Given the description of an element on the screen output the (x, y) to click on. 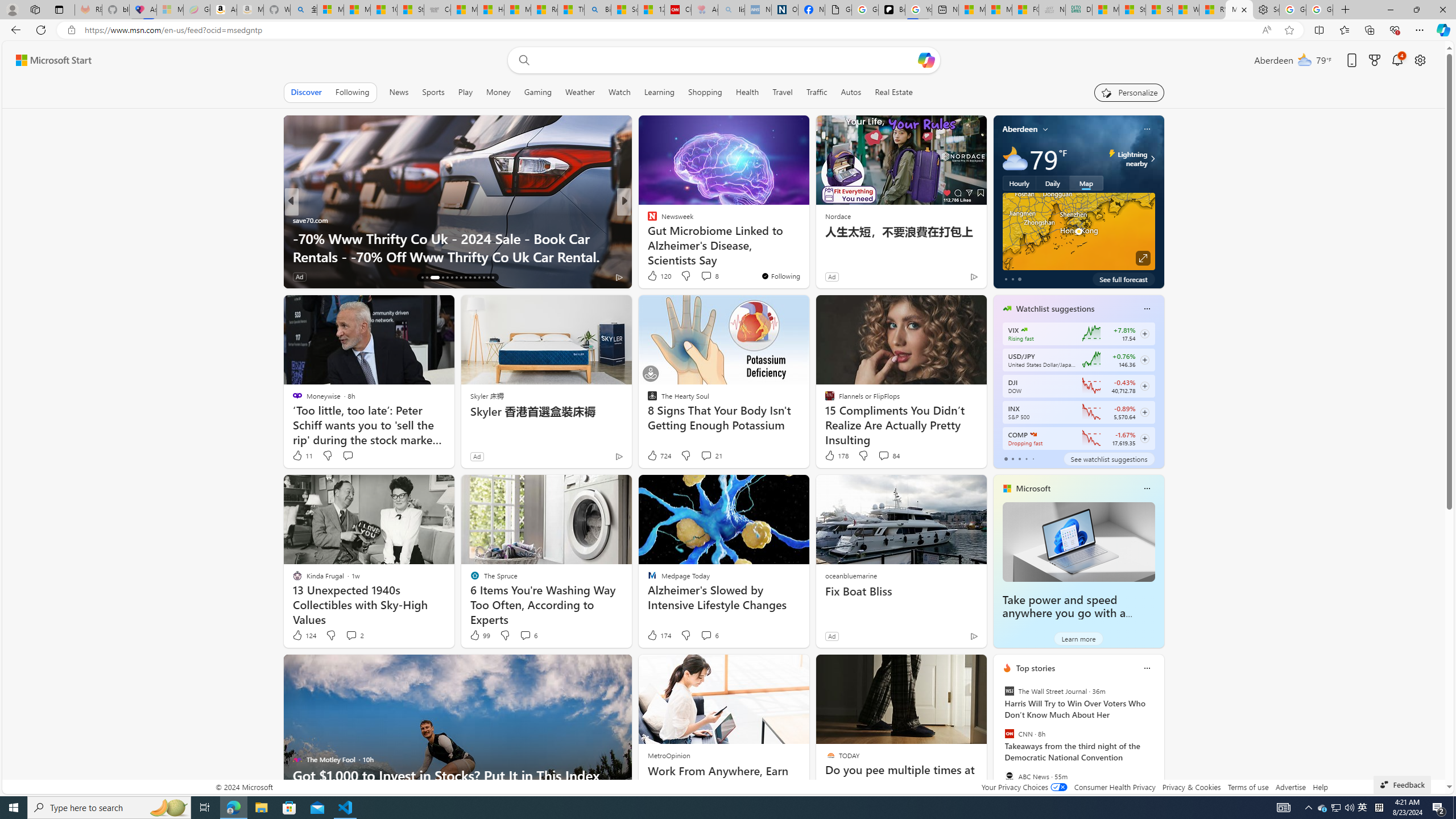
tab-0 (1005, 458)
View comments 2 Comment (350, 635)
19 Like (652, 276)
Top stories (1035, 668)
Health Digest (647, 238)
View comments 8 Comment (709, 275)
View comments 392 Comment (6, 276)
